Given the description of an element on the screen output the (x, y) to click on. 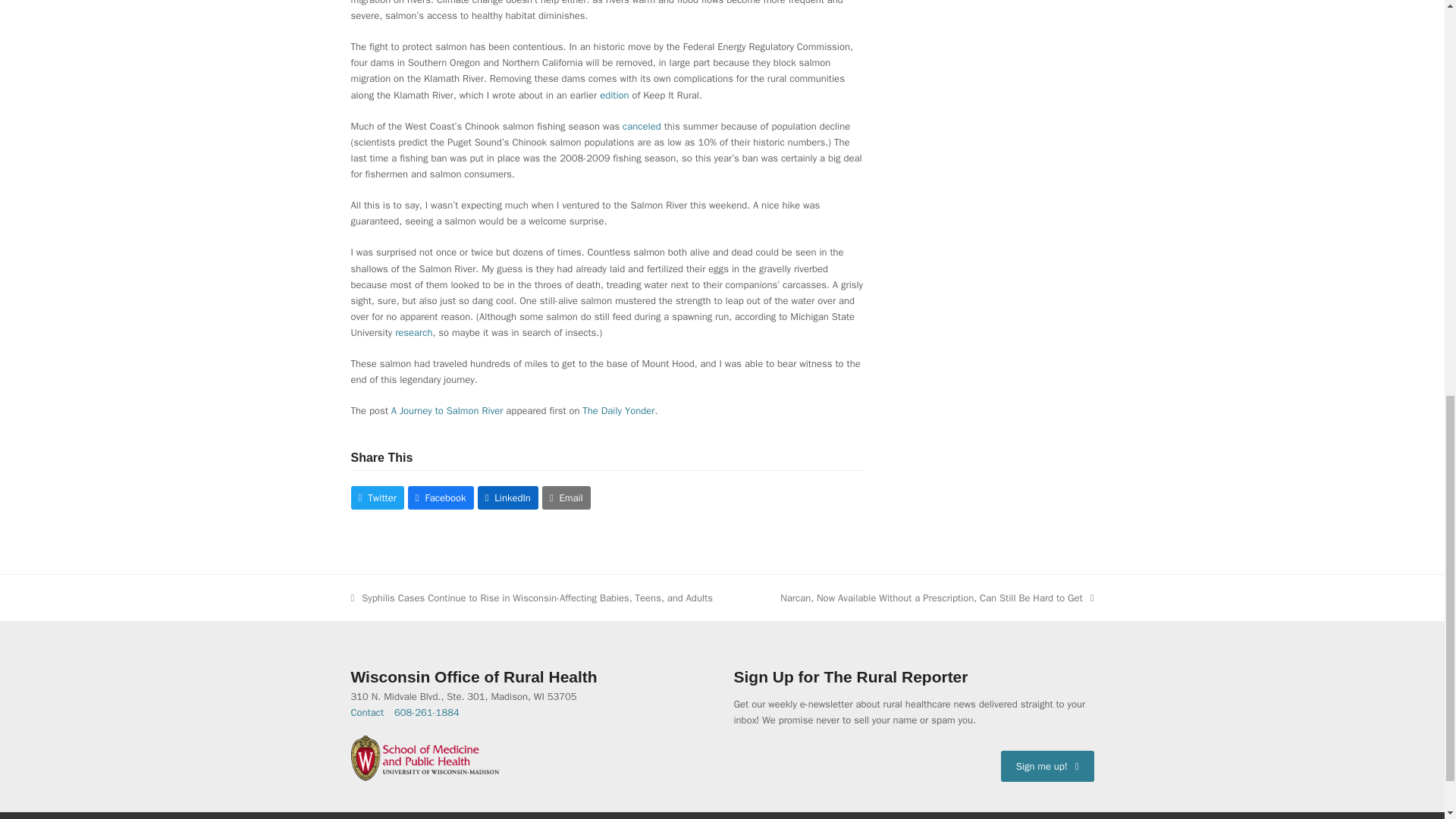
Facebook (440, 496)
edition (613, 93)
A Journey to Salmon River (447, 410)
The Daily Yonder (617, 410)
LinkedIn (507, 496)
Email (566, 496)
canceled (642, 125)
research (413, 332)
Twitter (376, 496)
